Given the description of an element on the screen output the (x, y) to click on. 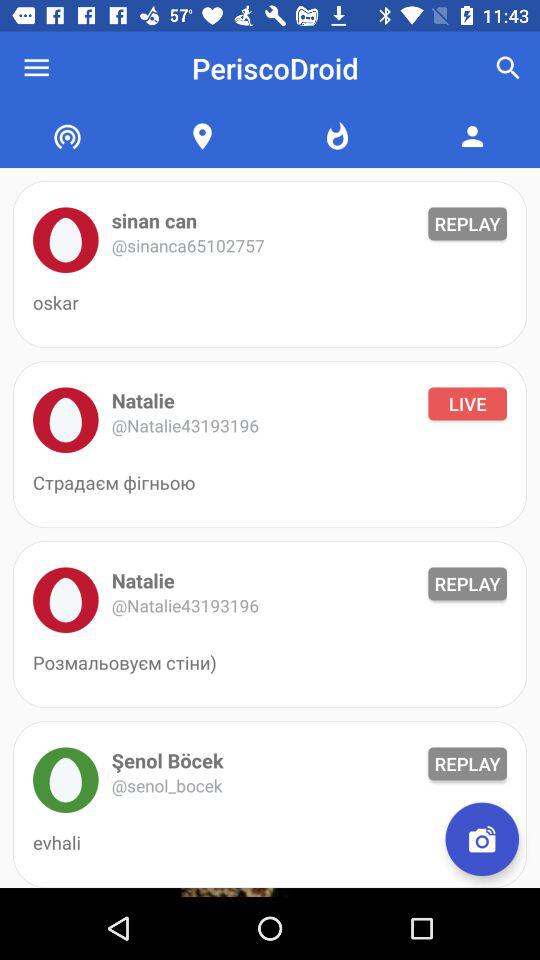
choose the icon to the left of periscodroid item (36, 68)
